Given the description of an element on the screen output the (x, y) to click on. 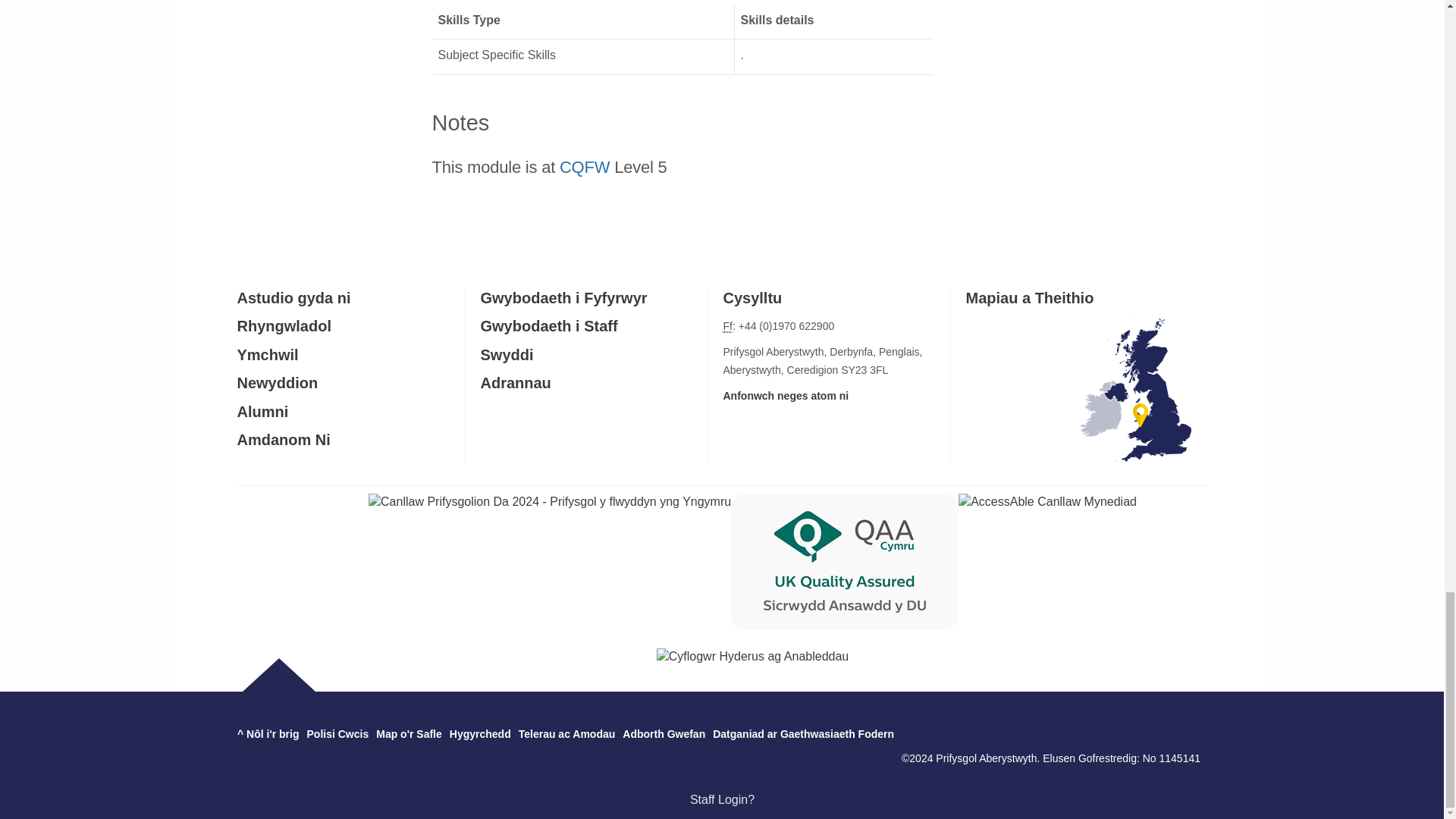
Map testun y wefan hon. (408, 734)
Polisi Cwci (338, 734)
Anfon adborth i ni ar y wefan hon. (663, 734)
Datganiad ar Gaethwasiaeth Fodern (803, 734)
Hygyrchedd (480, 734)
